Given the description of an element on the screen output the (x, y) to click on. 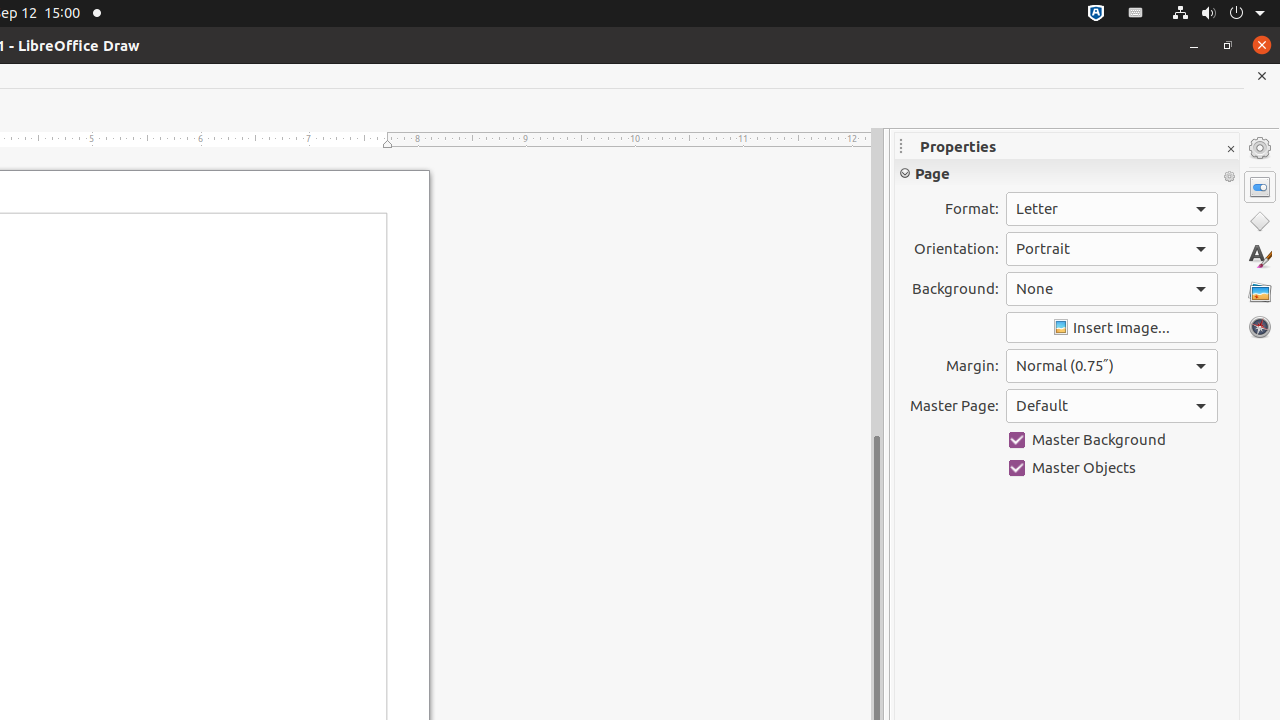
Insert Image Element type: push-button (1112, 327)
Shapes Element type: radio-button (1260, 222)
